Given the description of an element on the screen output the (x, y) to click on. 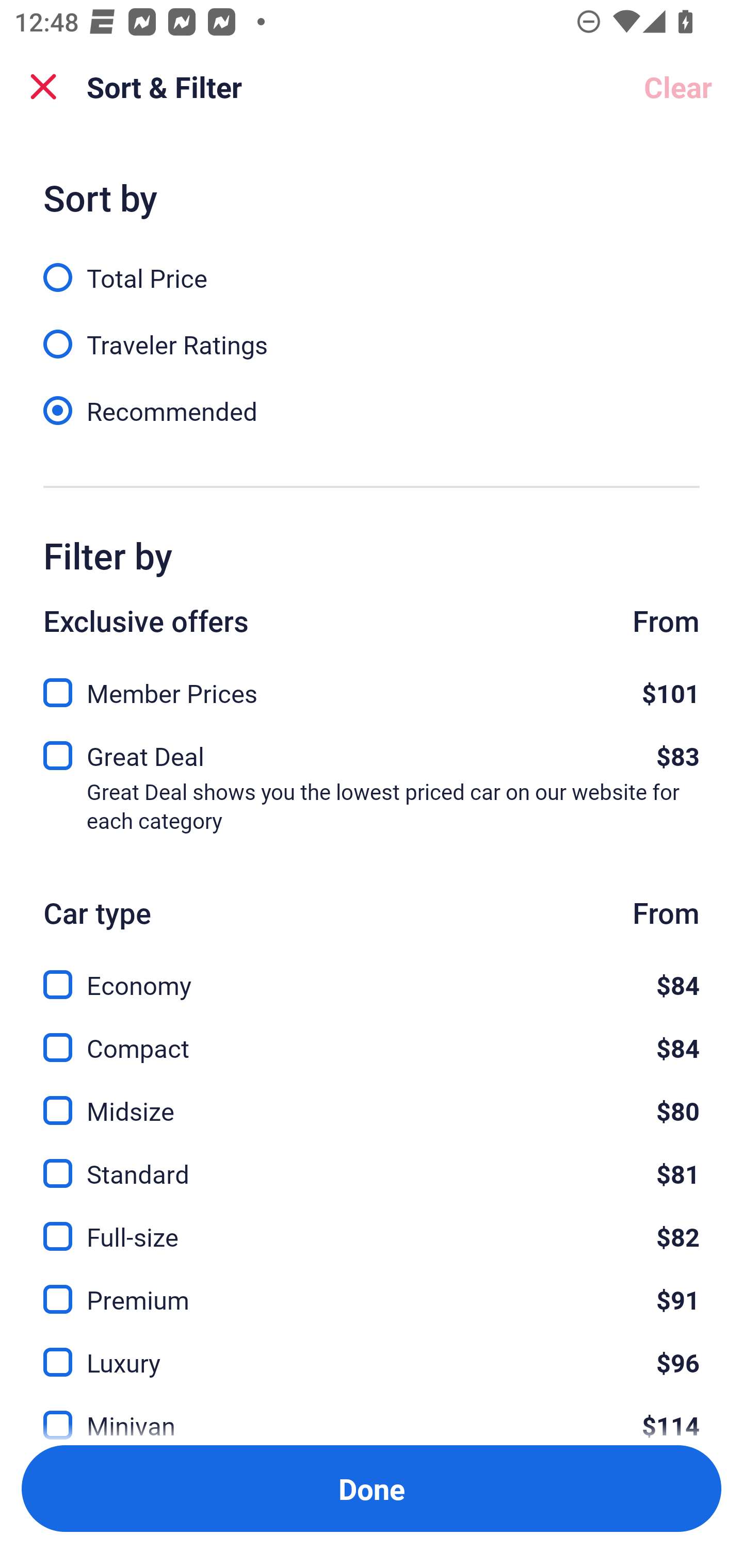
Close Sort and Filter (43, 86)
Clear (677, 86)
Total Price (371, 266)
Traveler Ratings (371, 332)
Member Prices, $101 Member Prices $101 (371, 686)
Economy, $84 Economy $84 (371, 973)
Compact, $84 Compact $84 (371, 1036)
Midsize, $80 Midsize $80 (371, 1098)
Standard, $81 Standard $81 (371, 1161)
Full-size, $82 Full-size $82 (371, 1224)
Premium, $91 Premium $91 (371, 1286)
Luxury, $96 Luxury $96 (371, 1350)
Minivan, $114 Minivan $114 (371, 1413)
Apply and close Sort and Filter Done (371, 1488)
